Given the description of an element on the screen output the (x, y) to click on. 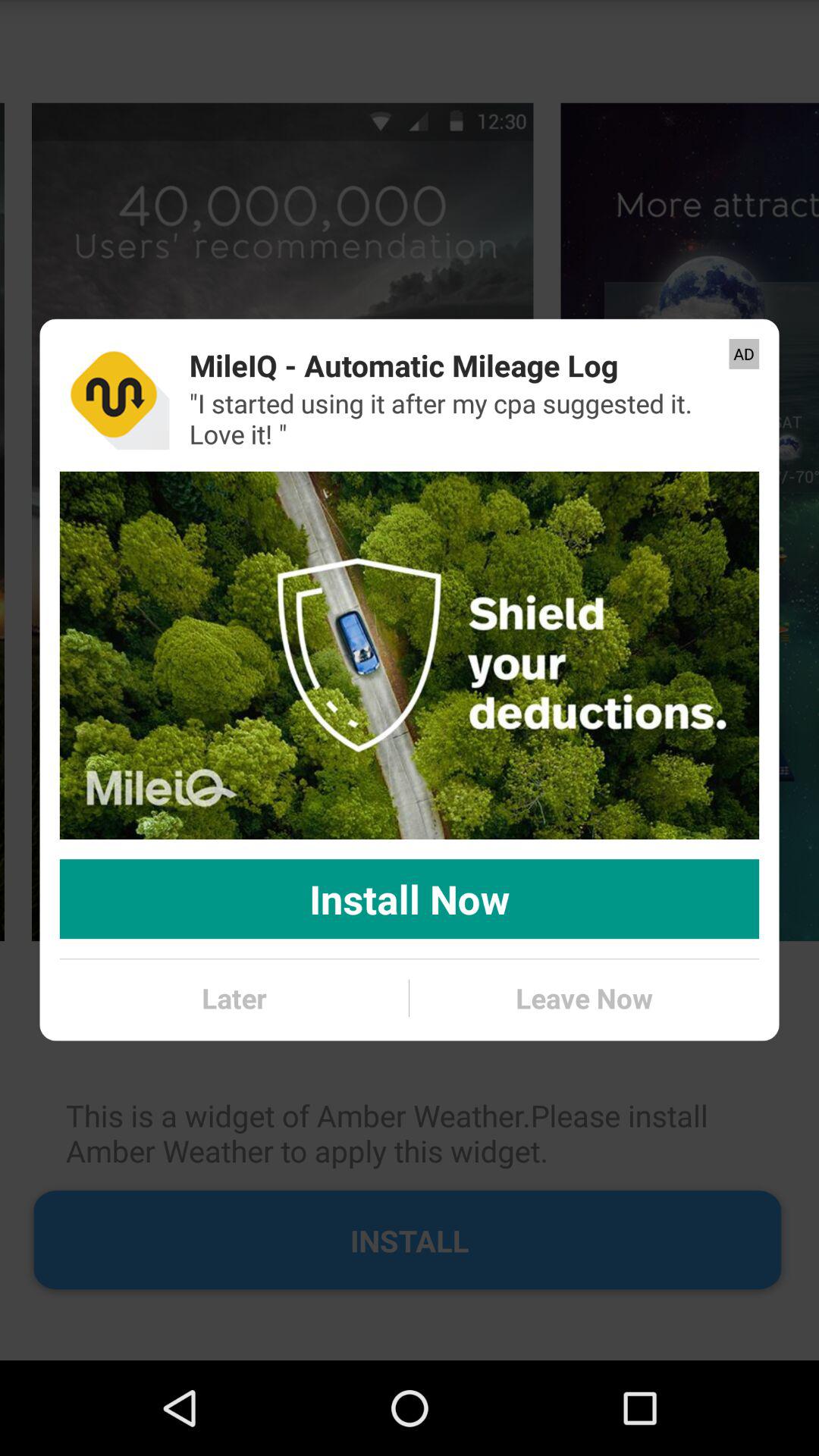
tap item above the install now item (409, 655)
